Given the description of an element on the screen output the (x, y) to click on. 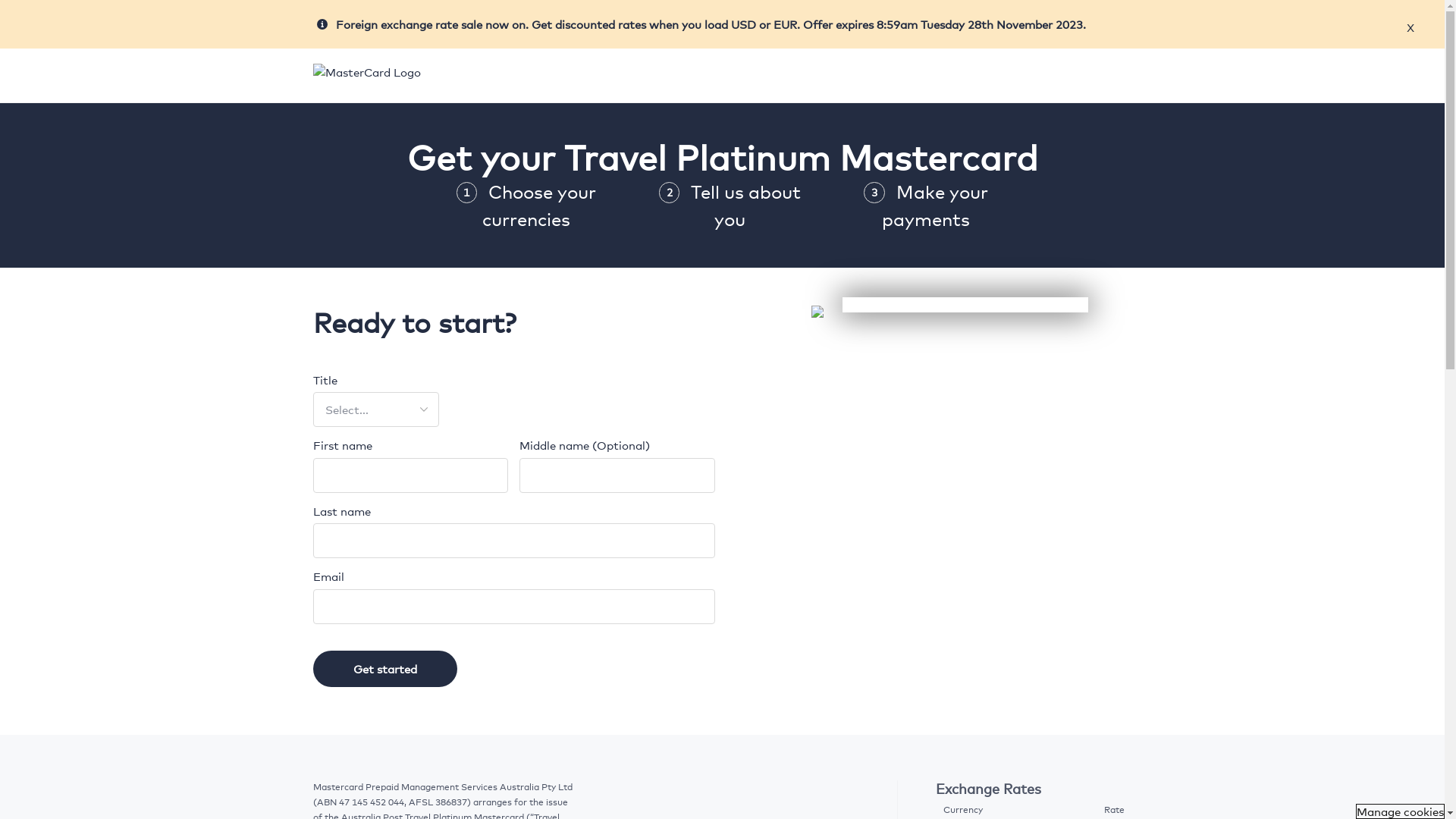
Get started Element type: text (384, 668)
MasterCard Element type: hover (366, 72)
X Element type: text (1410, 27)
